Given the description of an element on the screen output the (x, y) to click on. 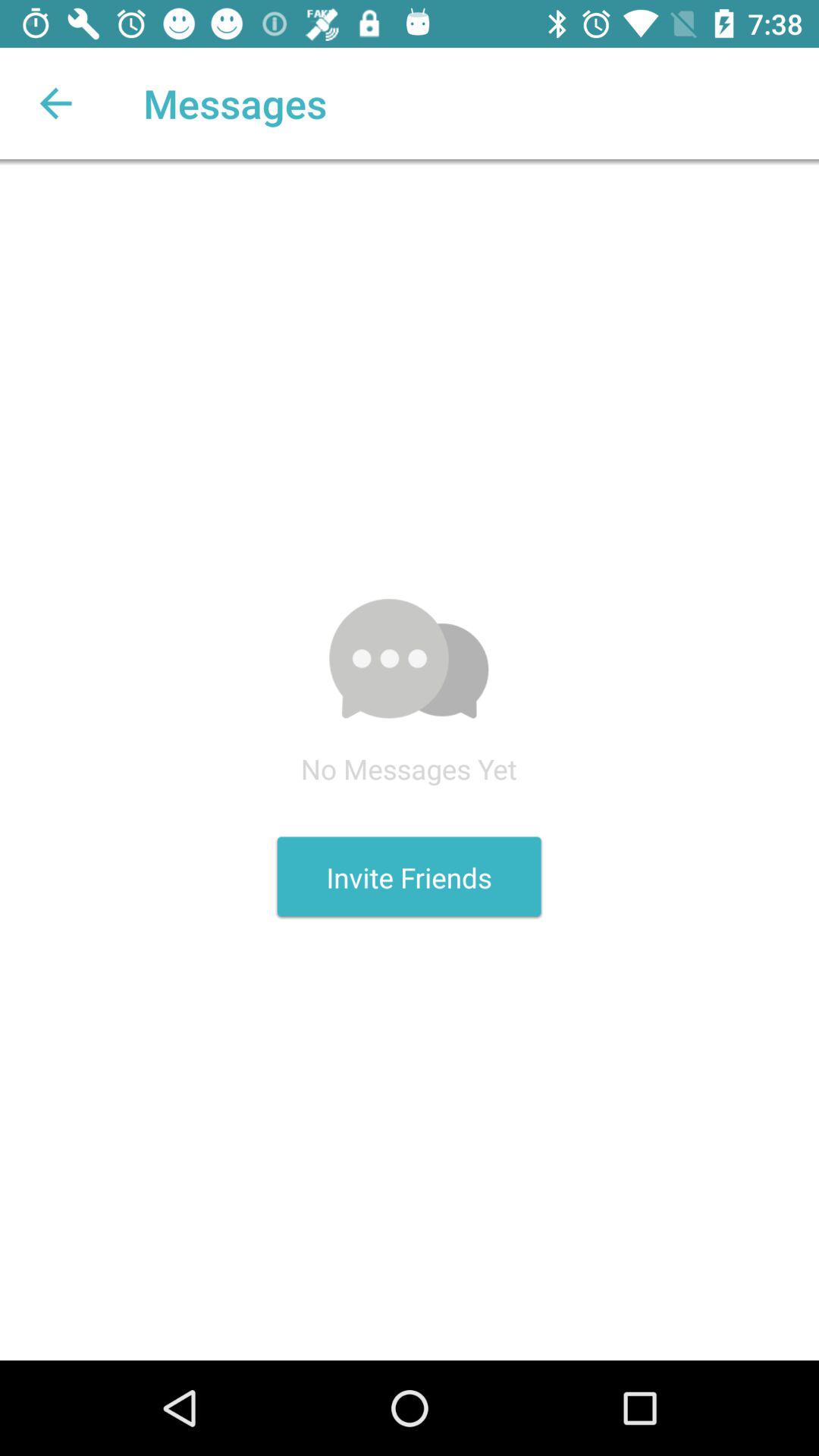
jump to the invite friends item (408, 877)
